Given the description of an element on the screen output the (x, y) to click on. 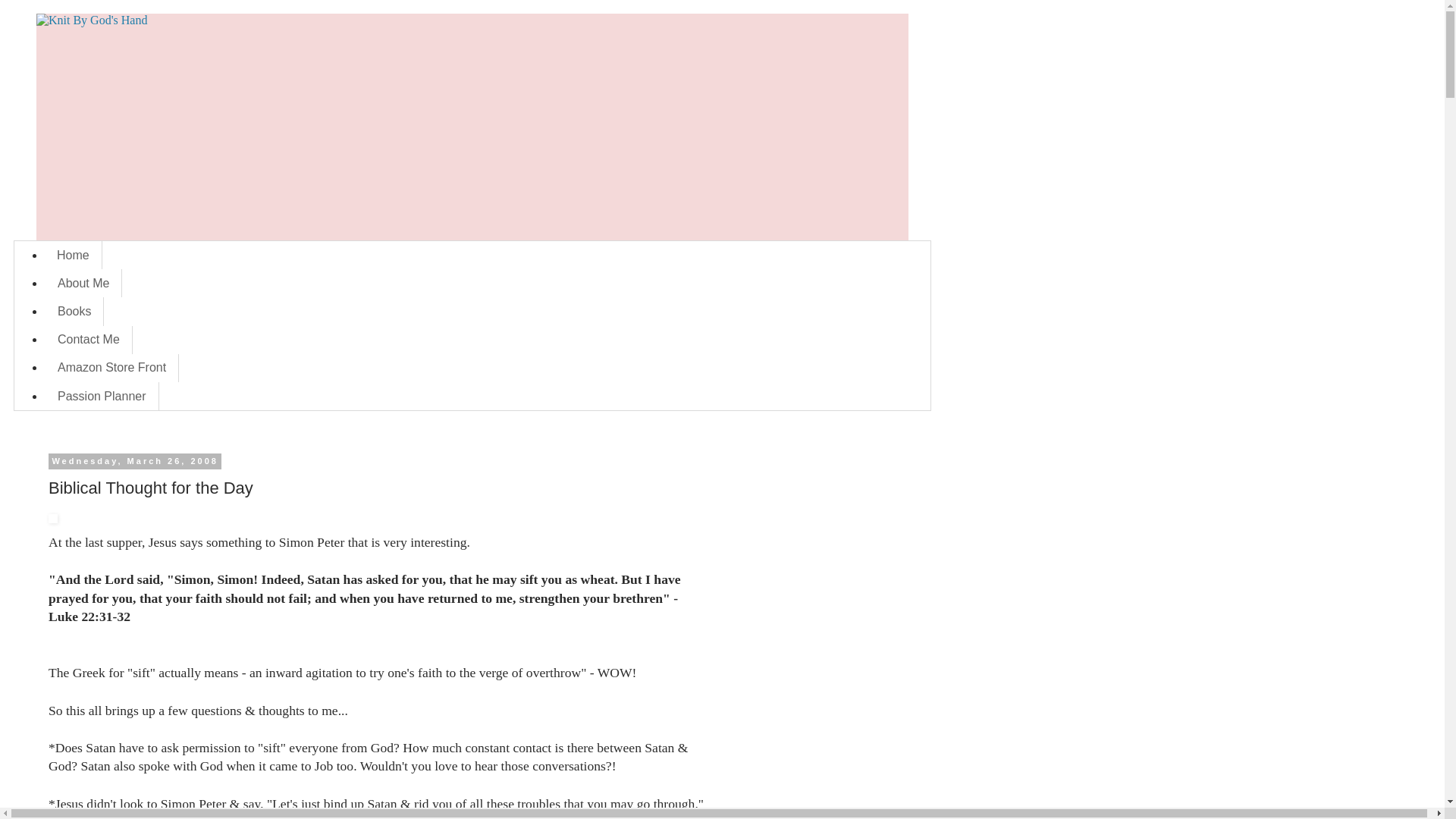
Home (73, 254)
Amazon Store Front (112, 367)
Books (74, 311)
Passion Planner (101, 396)
Contact Me (88, 339)
About Me (83, 283)
